Given the description of an element on the screen output the (x, y) to click on. 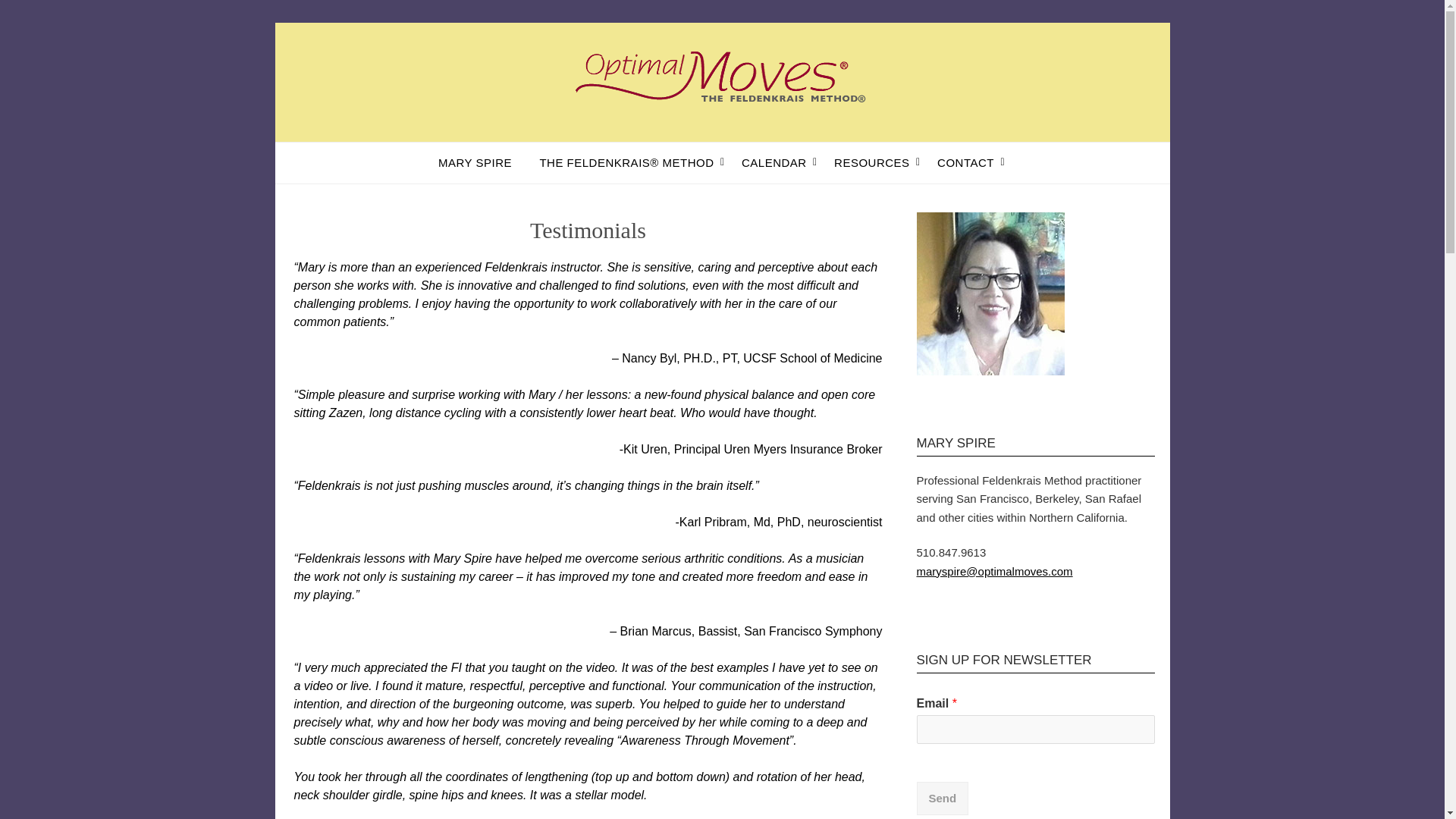
Send (941, 798)
CALENDAR (773, 162)
MARY SPIRE (481, 162)
CONTACT (965, 162)
RESOURCES (871, 162)
